Given the description of an element on the screen output the (x, y) to click on. 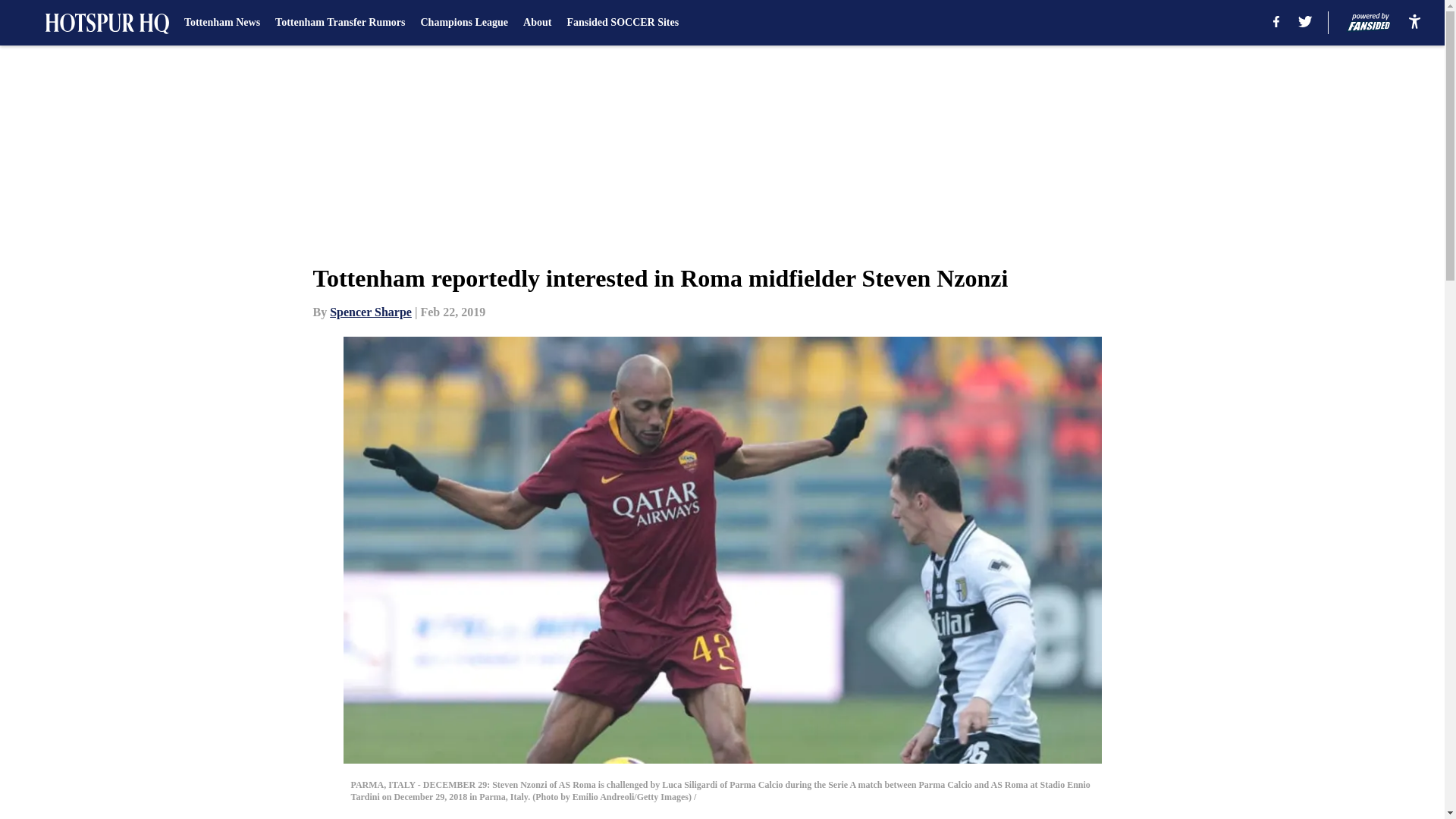
Spencer Sharpe (371, 311)
About (536, 22)
Tottenham News (222, 22)
Fansided SOCCER Sites (622, 22)
Champions League (464, 22)
Tottenham Transfer Rumors (339, 22)
